Given the description of an element on the screen output the (x, y) to click on. 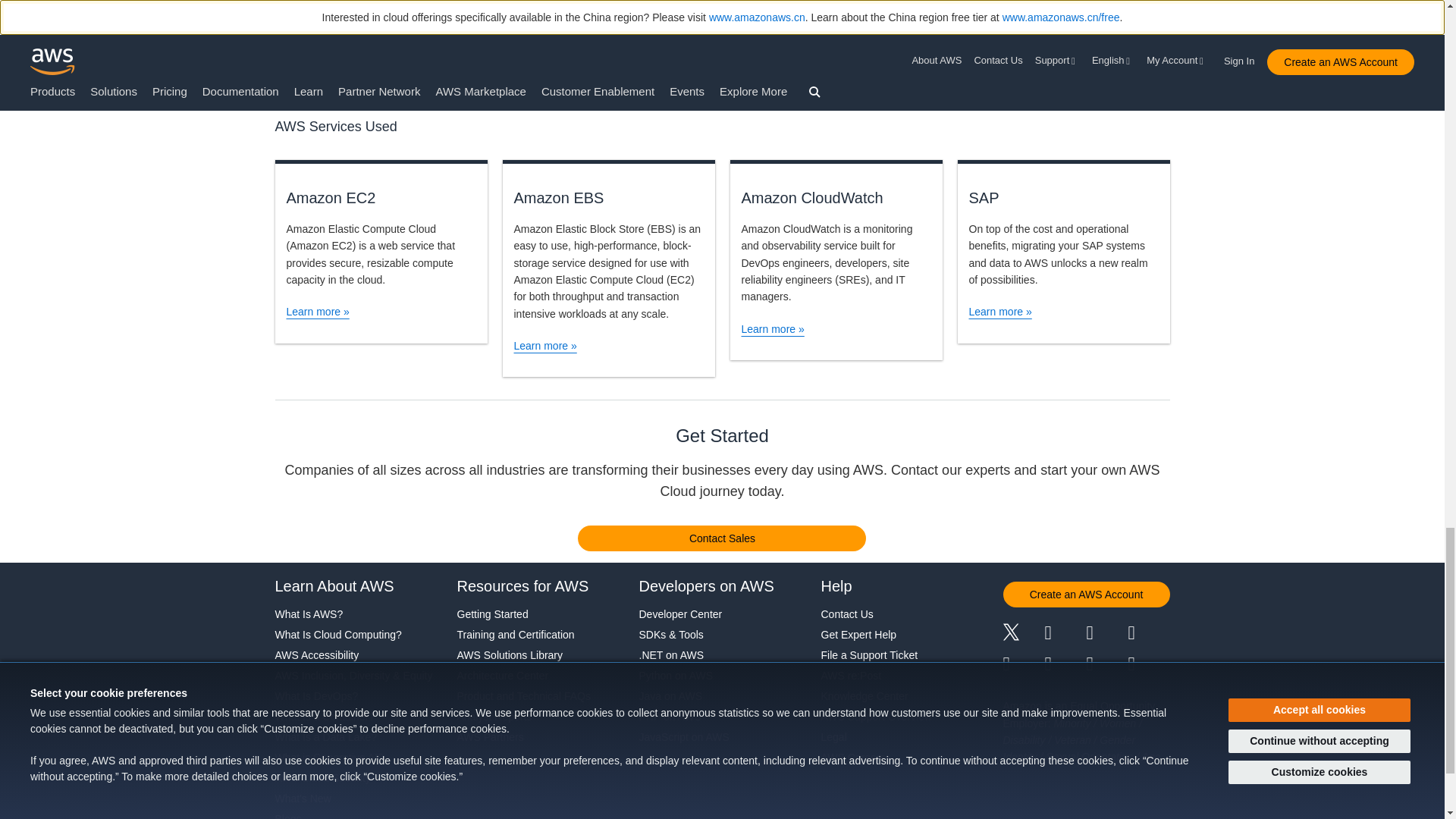
Linkedin (1106, 634)
Podcast (1106, 663)
Instagram (1149, 634)
Email (1149, 663)
Twitch (1023, 663)
Twitter (1023, 634)
Facebook (1065, 634)
YouTube (1065, 663)
